Given the description of an element on the screen output the (x, y) to click on. 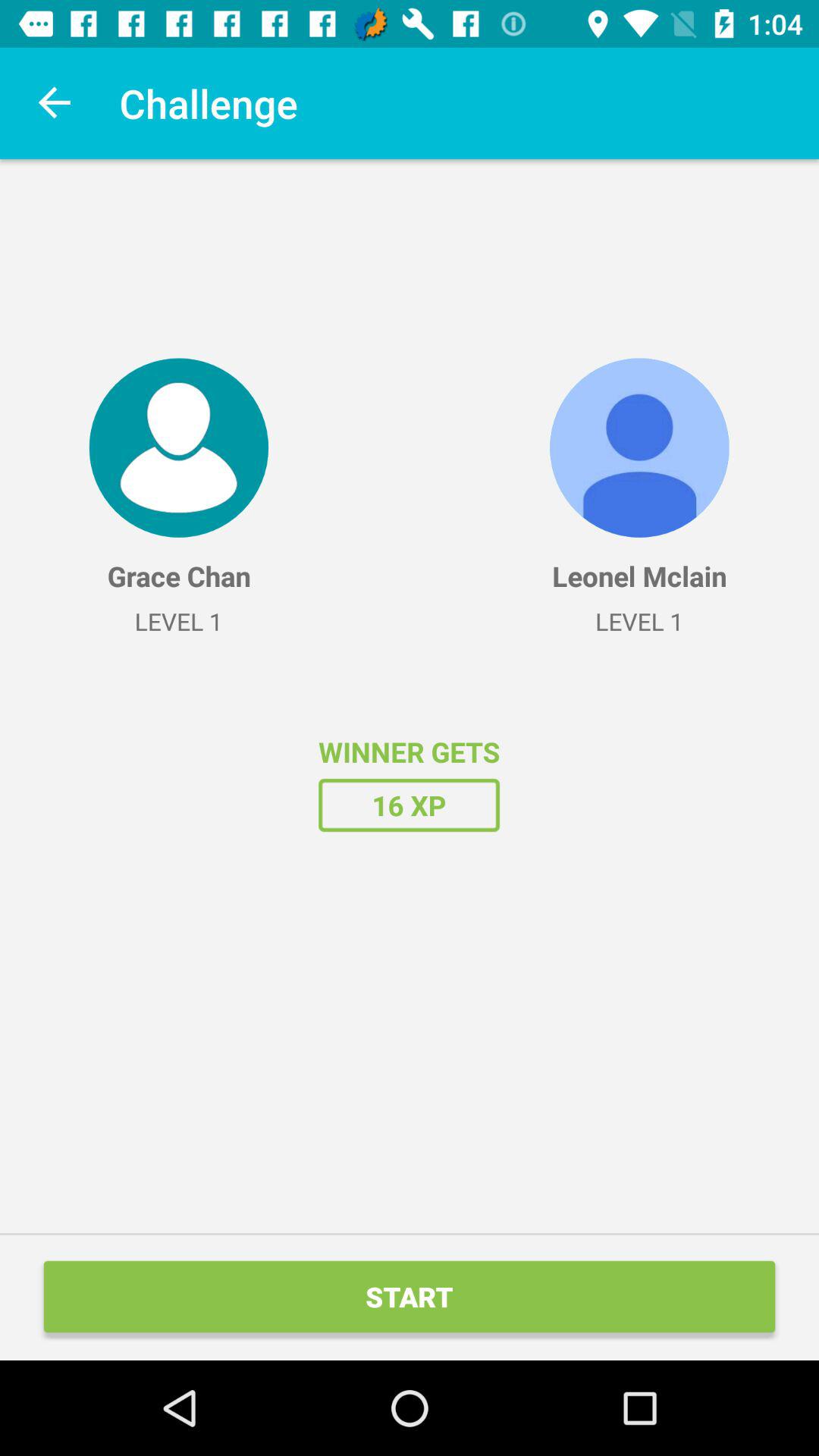
turn off icon above the grace chan item (178, 447)
